Given the description of an element on the screen output the (x, y) to click on. 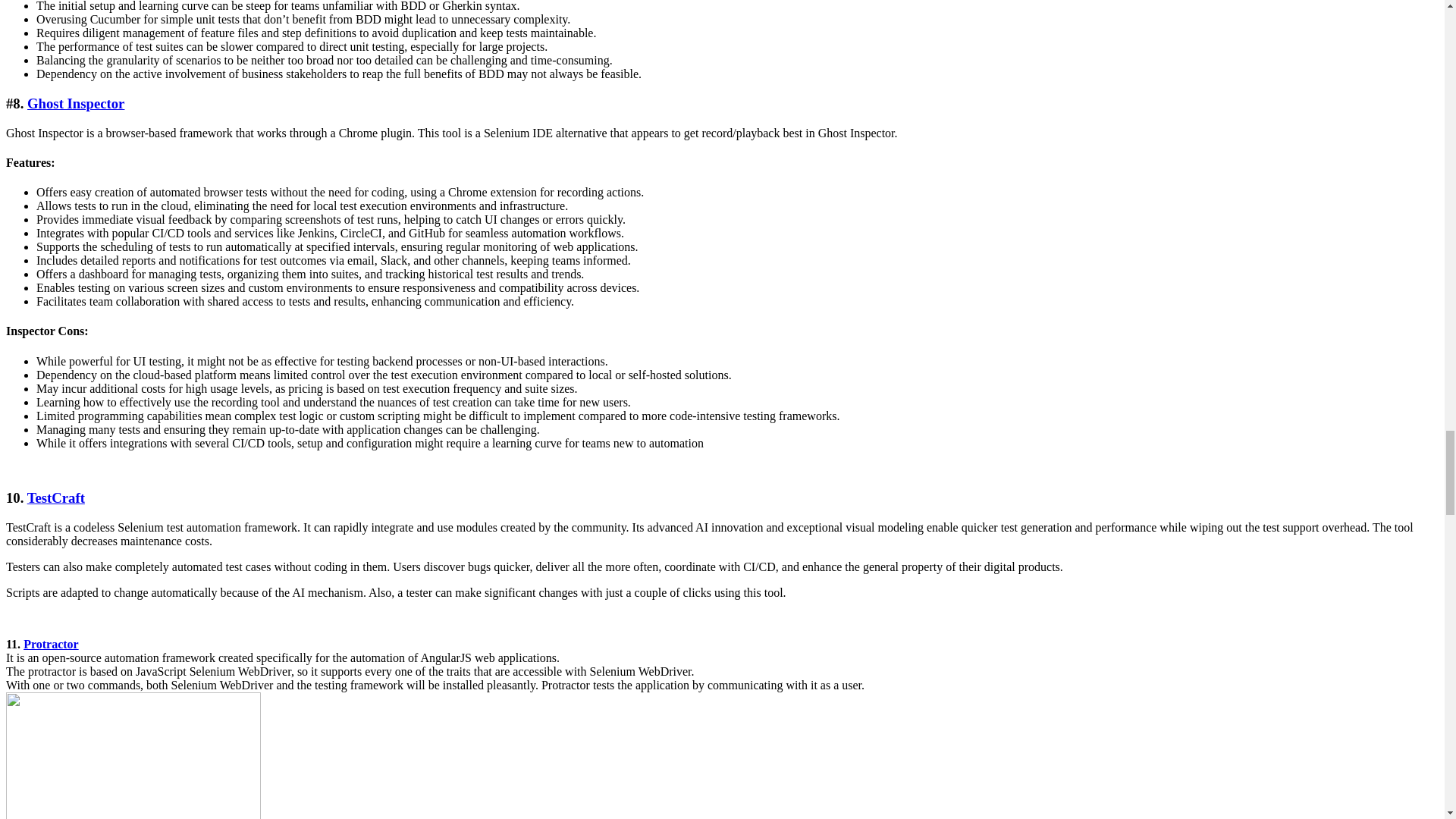
TestCraft (55, 497)
Protractor (50, 644)
Ghost Inspector (75, 103)
